Given the description of an element on the screen output the (x, y) to click on. 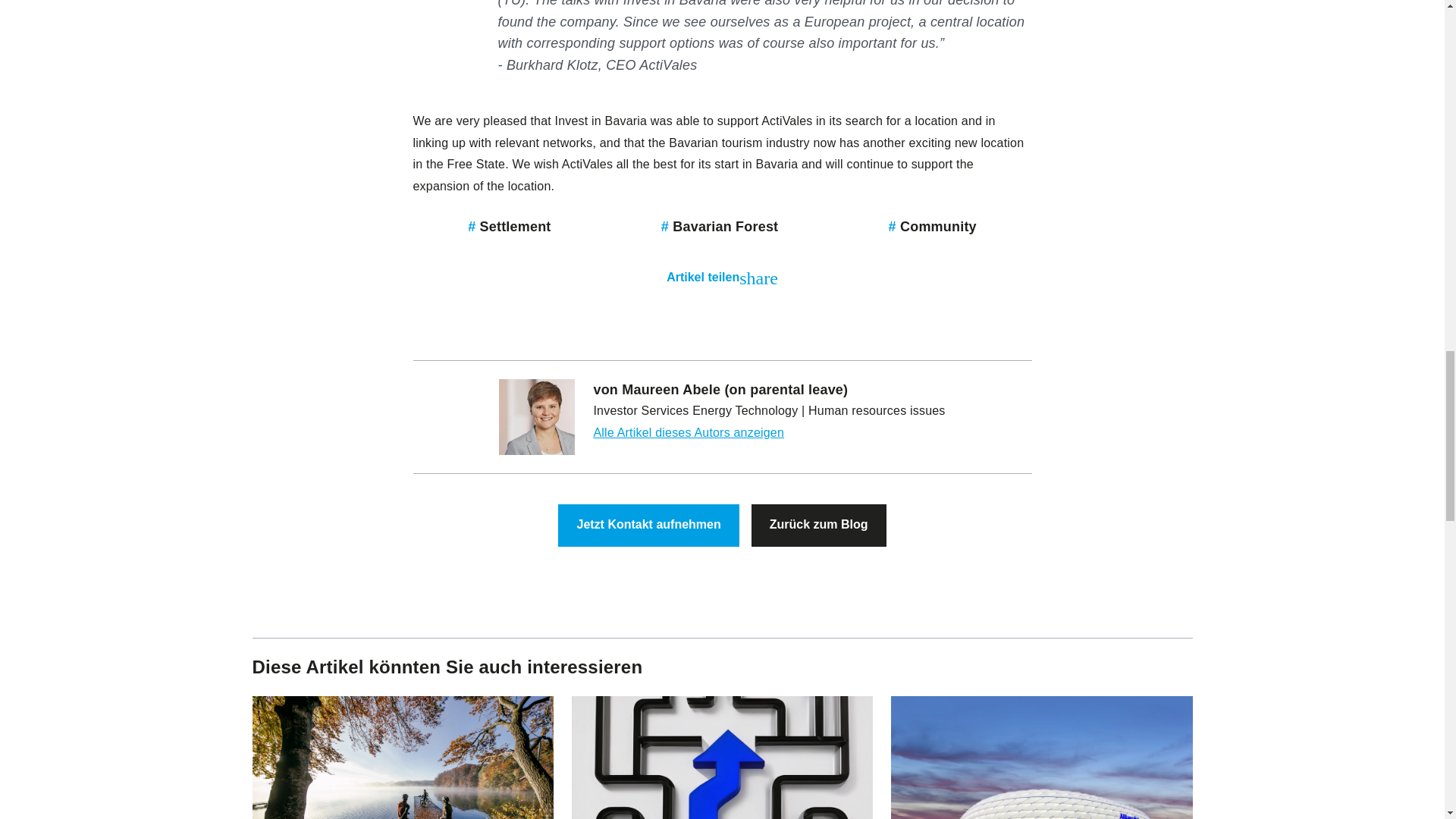
Alle Artikel dieses Autors anzeigen (688, 431)
Jetzt Kontakt aufnehmen (648, 525)
Jetzt Kontakt aufnehmen (647, 525)
